Given the description of an element on the screen output the (x, y) to click on. 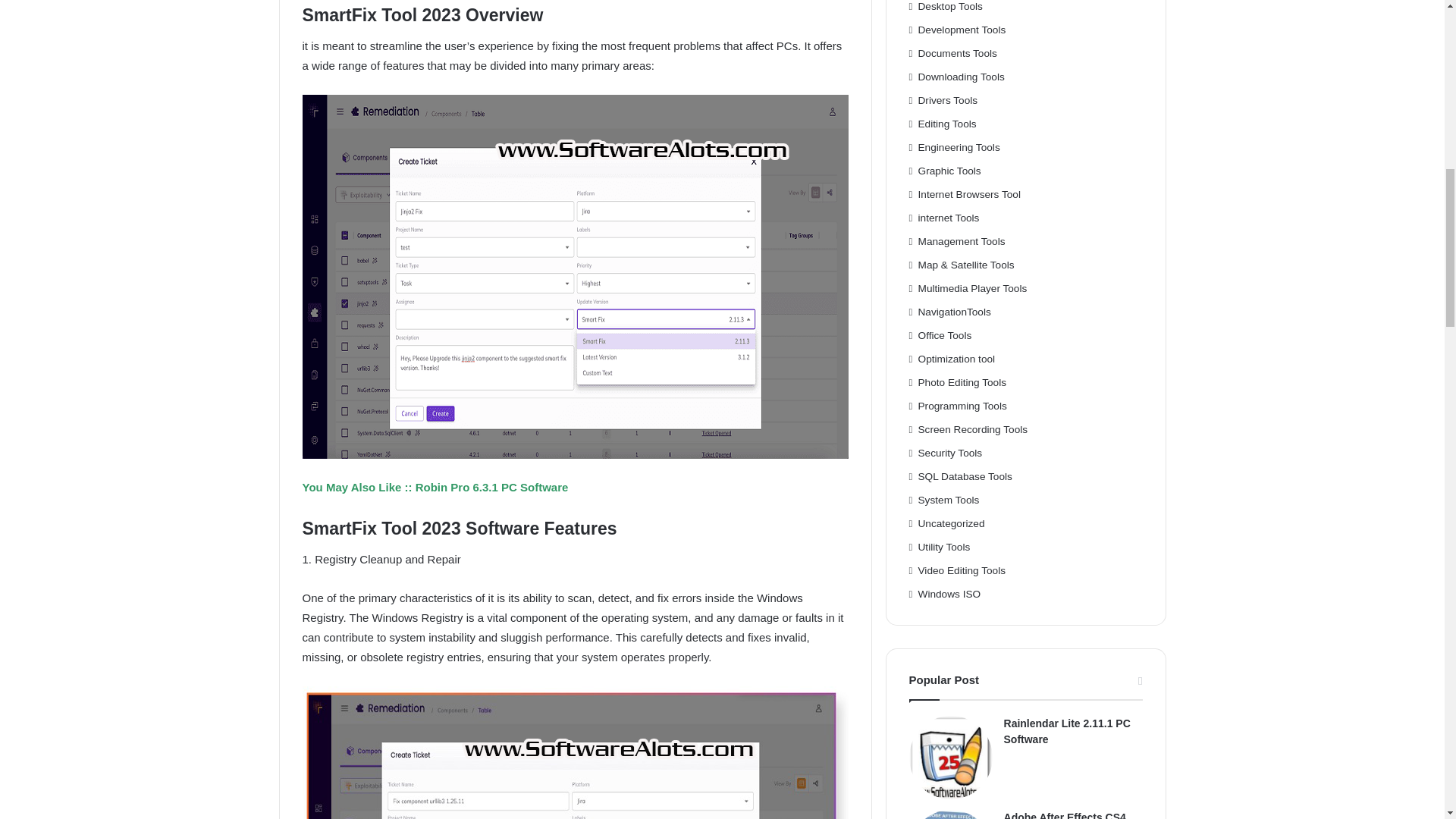
SmartFix Tool 2023 PC Software with patch (574, 752)
Robin Pro 6.3.1 PC Software (491, 486)
